Given the description of an element on the screen output the (x, y) to click on. 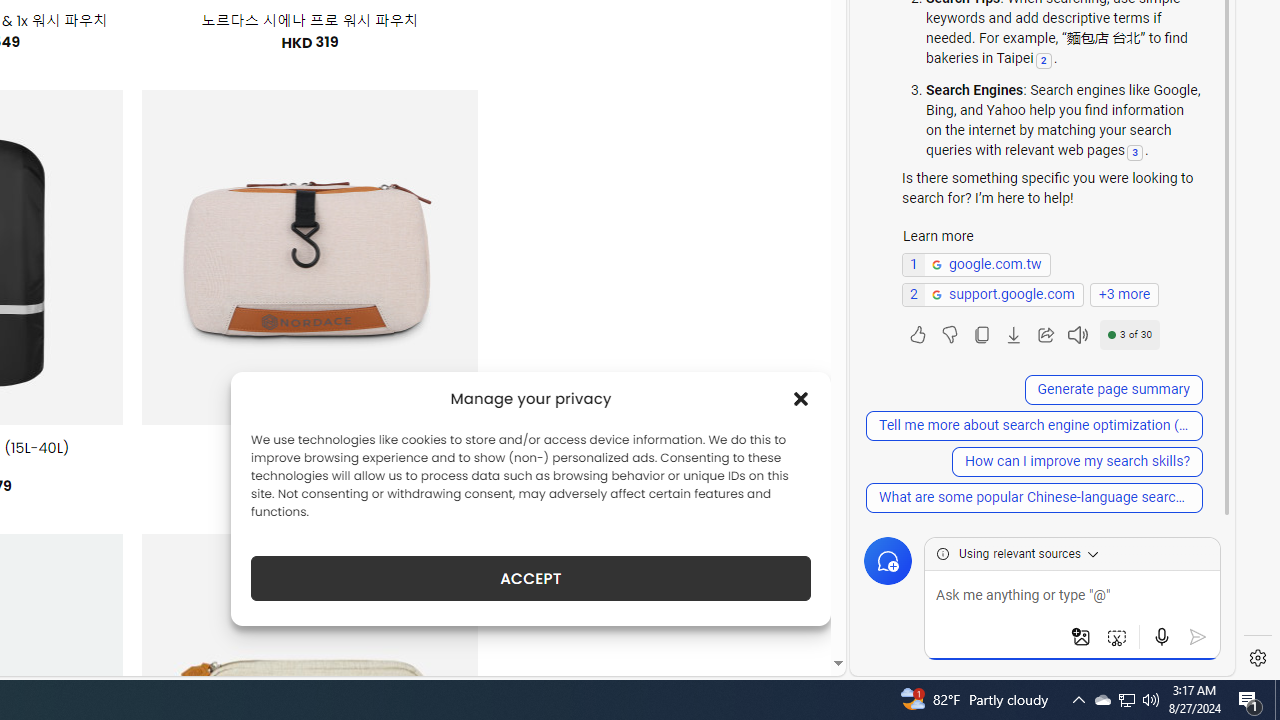
ACCEPT (530, 578)
Class: cmplz-close (801, 398)
